Given the description of an element on the screen output the (x, y) to click on. 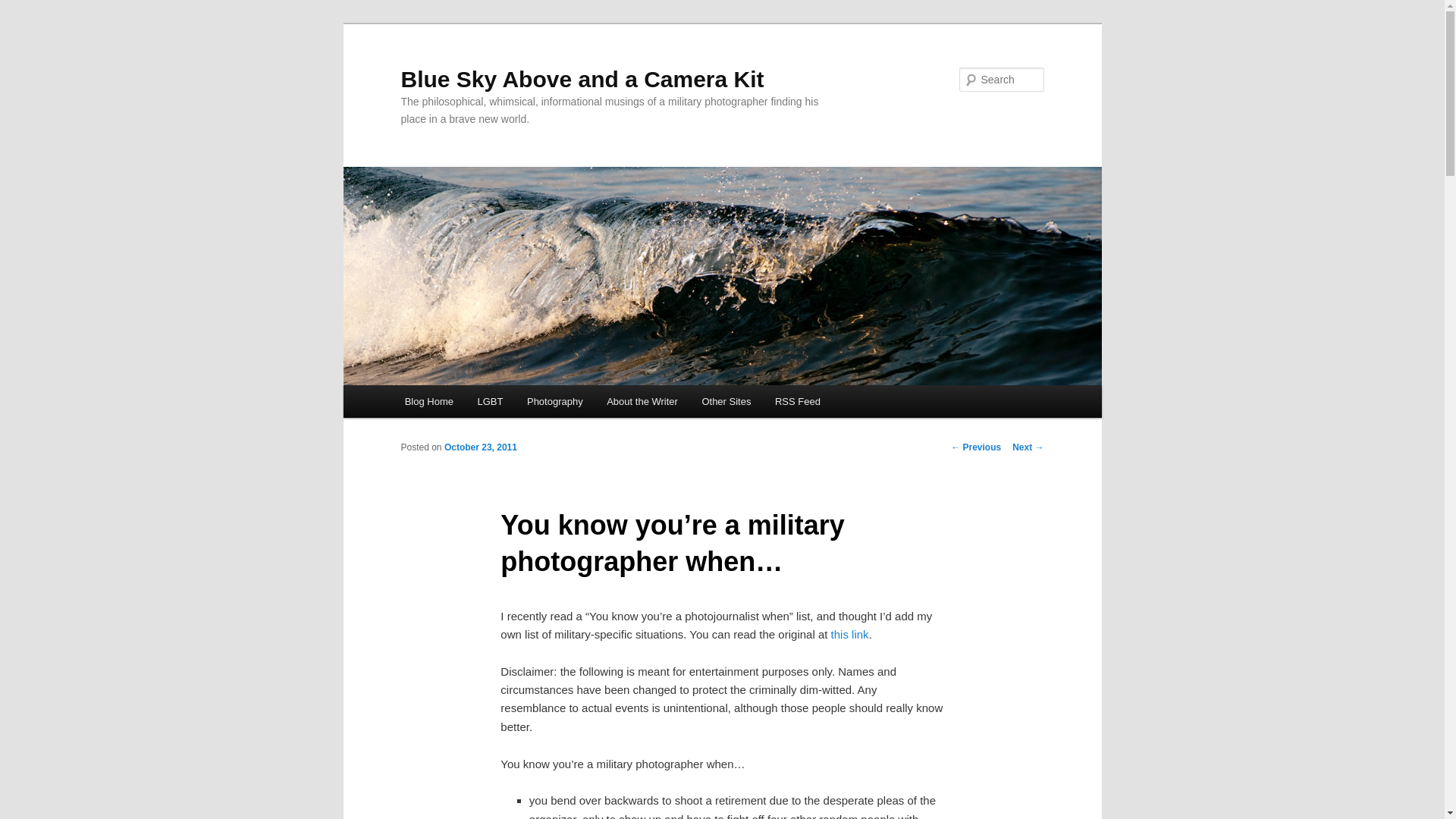
Skip to primary content (472, 403)
Other Sites (726, 400)
Photography (554, 400)
Skip to primary content (472, 403)
October 23, 2011 (480, 447)
this link (850, 634)
RSS Feed (796, 400)
Skip to secondary content (479, 403)
Search (24, 8)
About the Writer (641, 400)
Skip to secondary content (479, 403)
Blue Sky Above and a Camera Kit (581, 78)
Blue Sky Above and a Camera Kit (581, 78)
LGBT (490, 400)
Blog Home (429, 400)
